Given the description of an element on the screen output the (x, y) to click on. 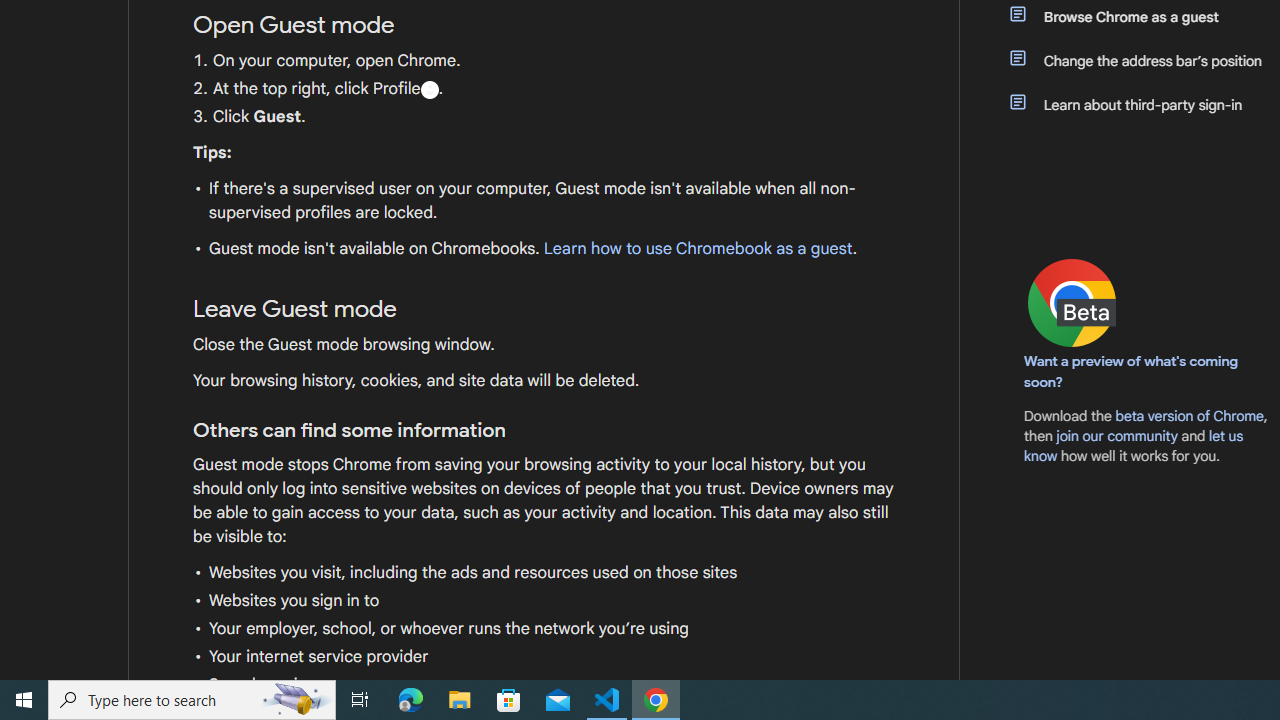
Chrome Beta logo (1072, 302)
Profile (429, 89)
let us know (1134, 445)
Want a preview of what's coming soon? (1131, 371)
Learn how to use Chromebook as a guest (697, 249)
beta version of Chrome (1189, 415)
join our community (1116, 435)
